Given the description of an element on the screen output the (x, y) to click on. 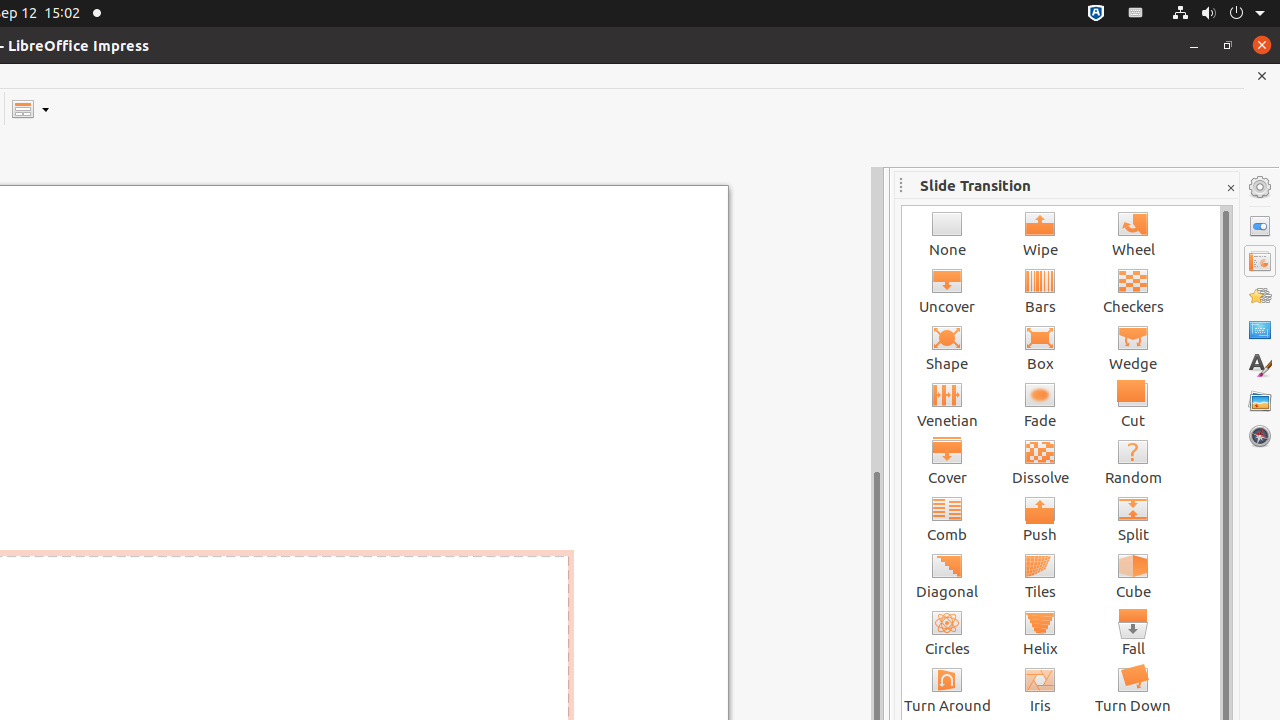
Cut Element type: list-item (1133, 404)
Styles Element type: radio-button (1260, 366)
Diagonal Element type: list-item (947, 575)
Venetian Element type: list-item (947, 404)
Close Sidebar Deck Element type: push-button (1230, 188)
